Given the description of an element on the screen output the (x, y) to click on. 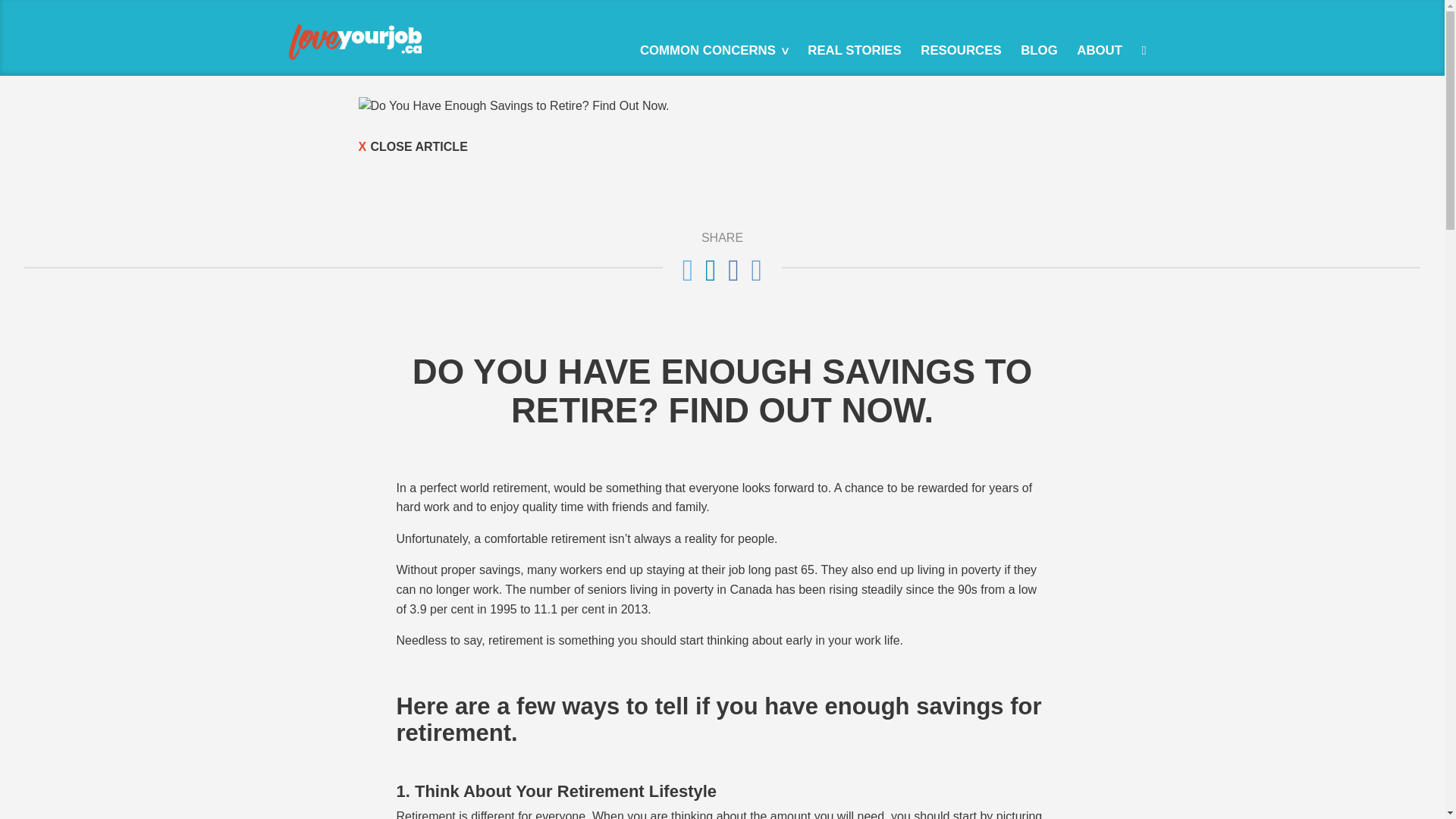
ABOUT (1099, 51)
BLOG (1038, 51)
REAL STORIES (854, 51)
RESOURCES (961, 51)
CLOSE ARTICLE (722, 147)
